Given the description of an element on the screen output the (x, y) to click on. 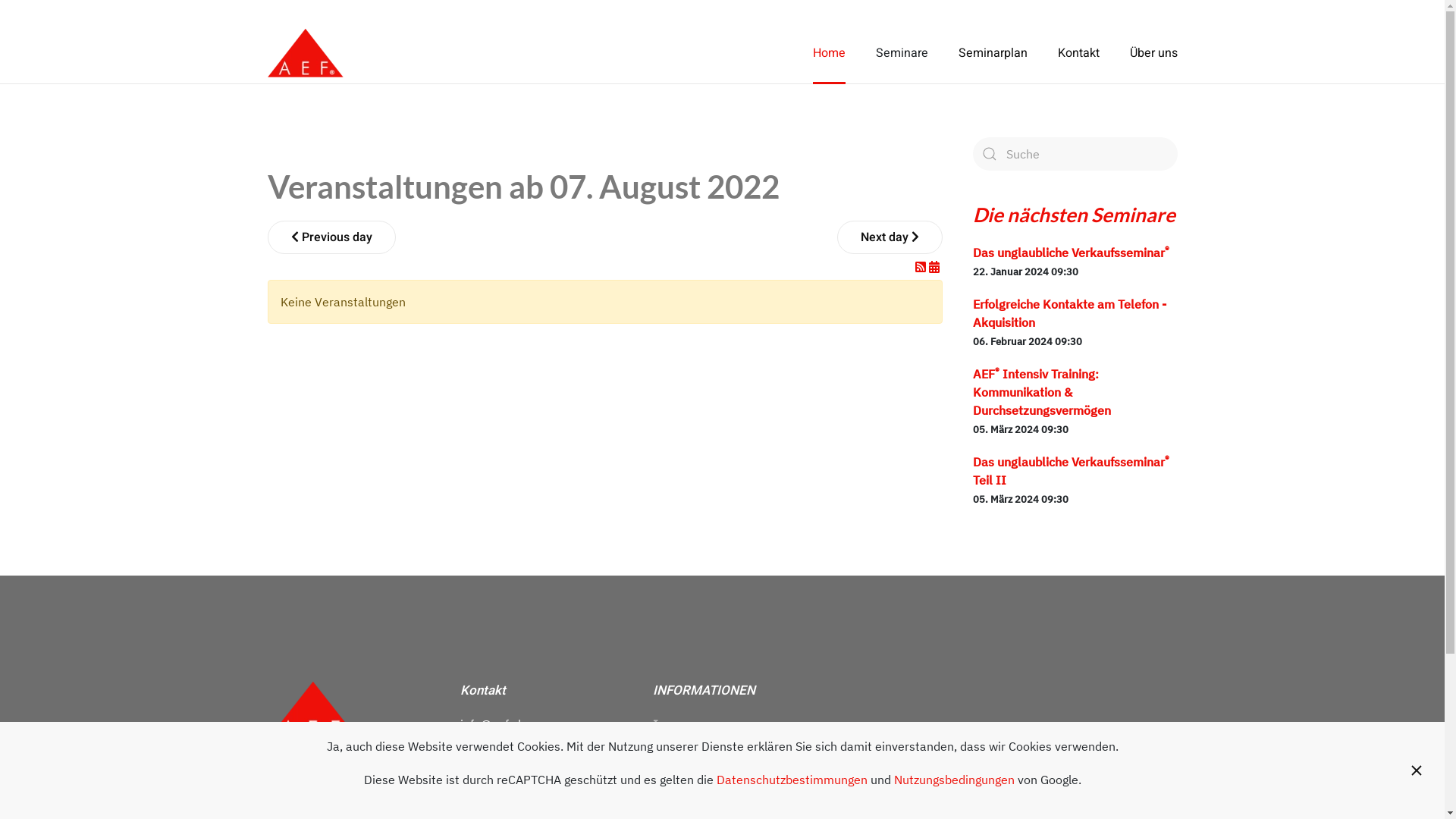
Seminarplan Element type: text (992, 52)
Datenschutz Element type: text (686, 749)
info@aef.ch Element type: text (491, 723)
Erfolgreiche Kontakte am Telefon - Akquisition Element type: text (1068, 312)
Sitemap Element type: text (675, 775)
Impressum Element type: text (683, 723)
Next day Element type: text (889, 237)
Kontakt Element type: text (1077, 52)
Previous day Element type: text (330, 237)
Home Element type: text (828, 52)
Datenschutzbestimmungen Element type: text (790, 779)
Seminare Element type: text (901, 52)
Nutzungsbedingungen Element type: text (953, 779)
